Given the description of an element on the screen output the (x, y) to click on. 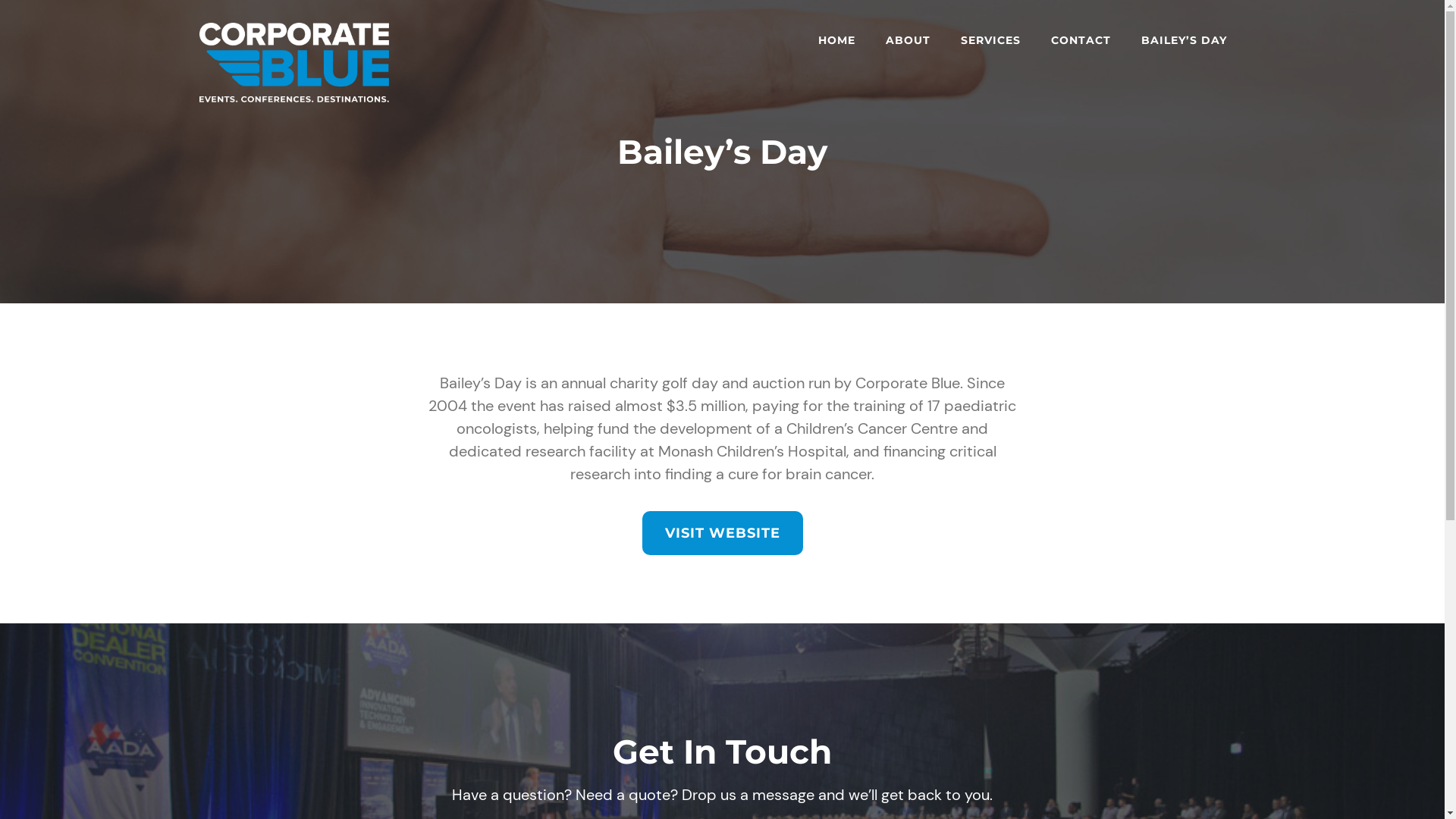
CONTACT Element type: text (1080, 39)
VISIT WEBSITE Element type: text (721, 533)
HOME Element type: text (836, 39)
SERVICES Element type: text (990, 39)
ABOUT Element type: text (907, 39)
